Given the description of an element on the screen output the (x, y) to click on. 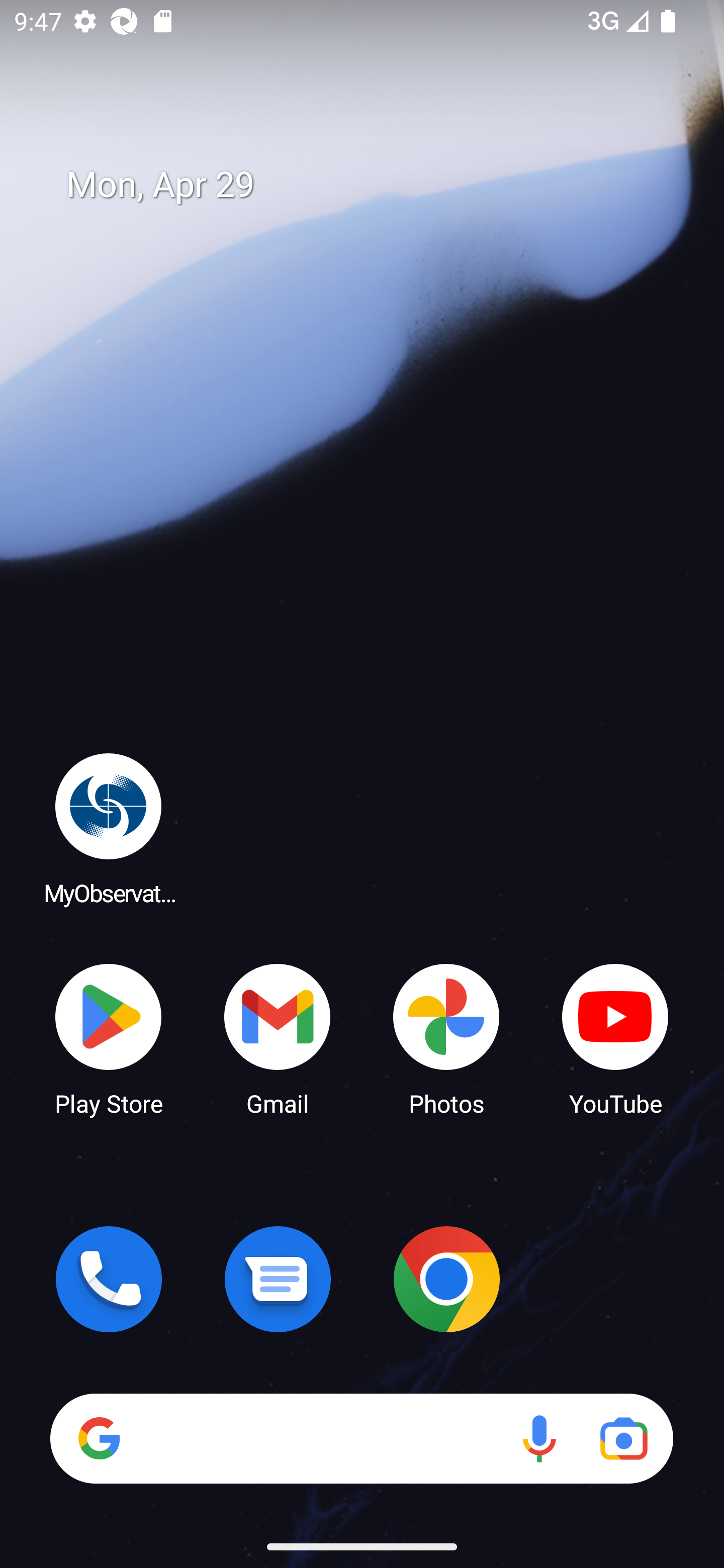
Mon, Apr 29 (375, 184)
MyObservatory (108, 828)
Play Store (108, 1038)
Gmail (277, 1038)
Photos (445, 1038)
YouTube (615, 1038)
Phone (108, 1279)
Messages (277, 1279)
Chrome (446, 1279)
Voice search (539, 1438)
Google Lens (623, 1438)
